Given the description of an element on the screen output the (x, y) to click on. 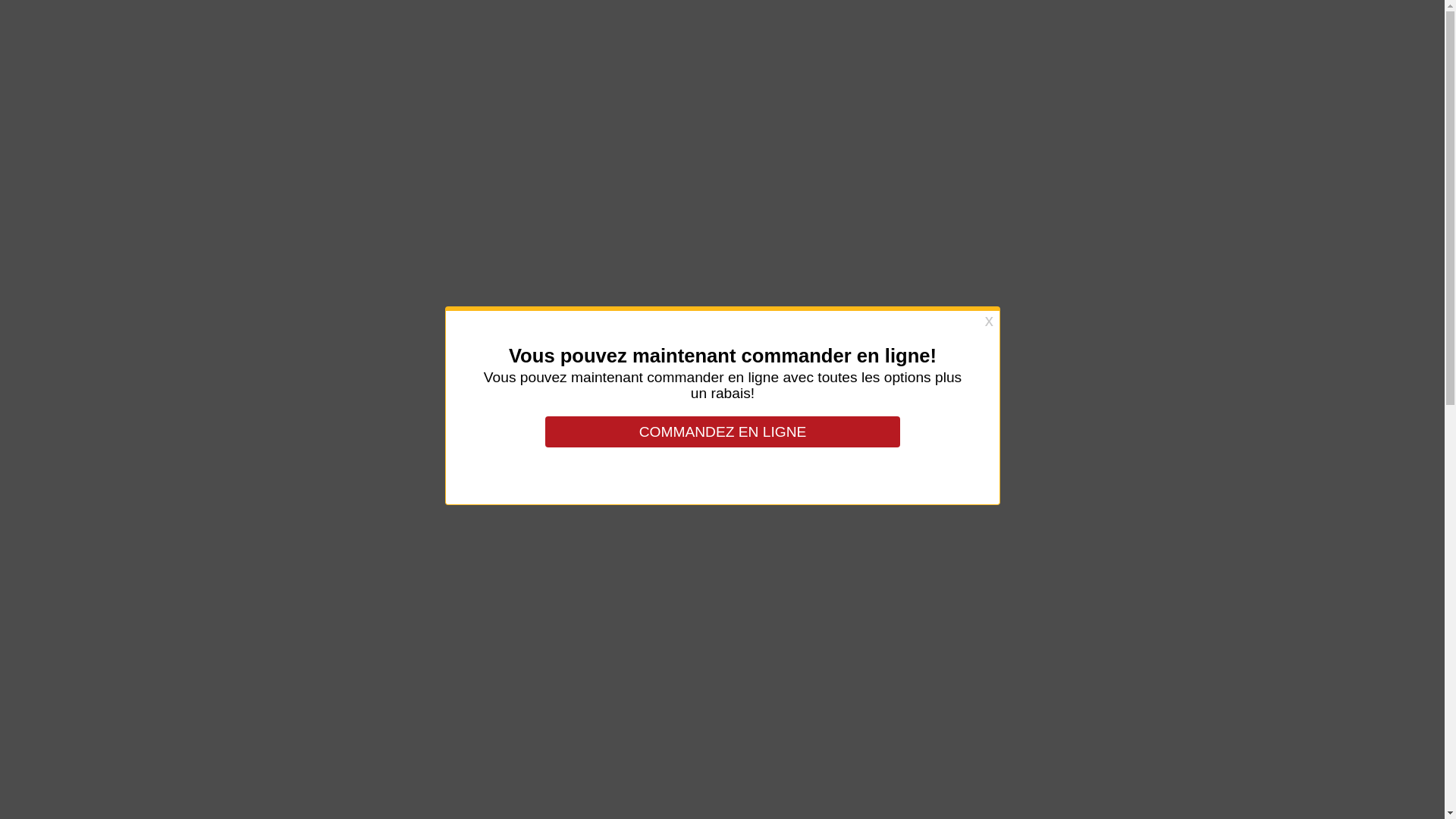
Home Element type: text (687, 111)
Book a Table Element type: text (1034, 697)
HOME Element type: text (1172, 54)
0
shopping_cart Element type: text (1388, 54)
CONTACT Element type: text (1319, 54)
MENU Element type: text (1241, 54)
